Given the description of an element on the screen output the (x, y) to click on. 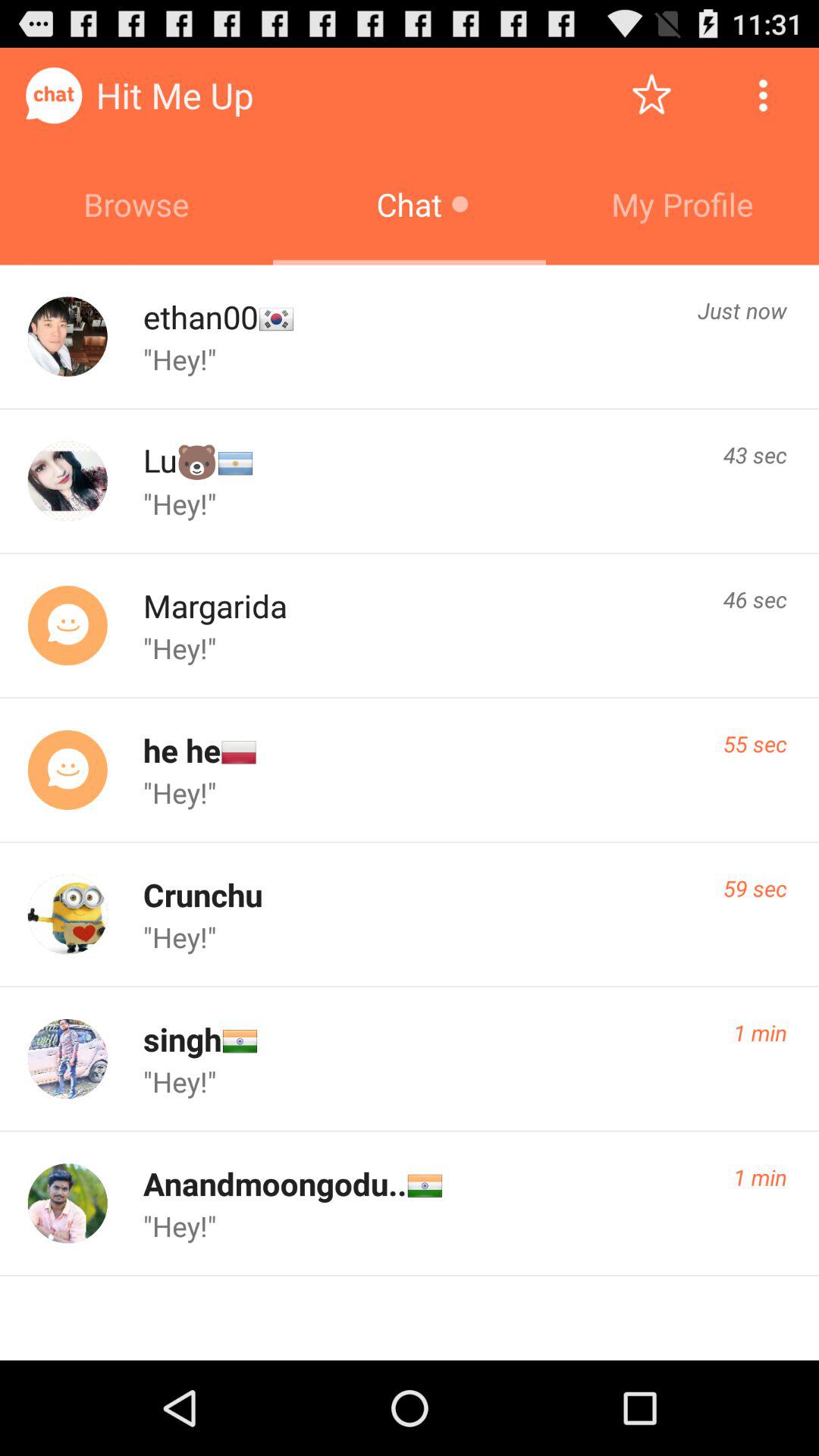
add to favorites (651, 95)
